Given the description of an element on the screen output the (x, y) to click on. 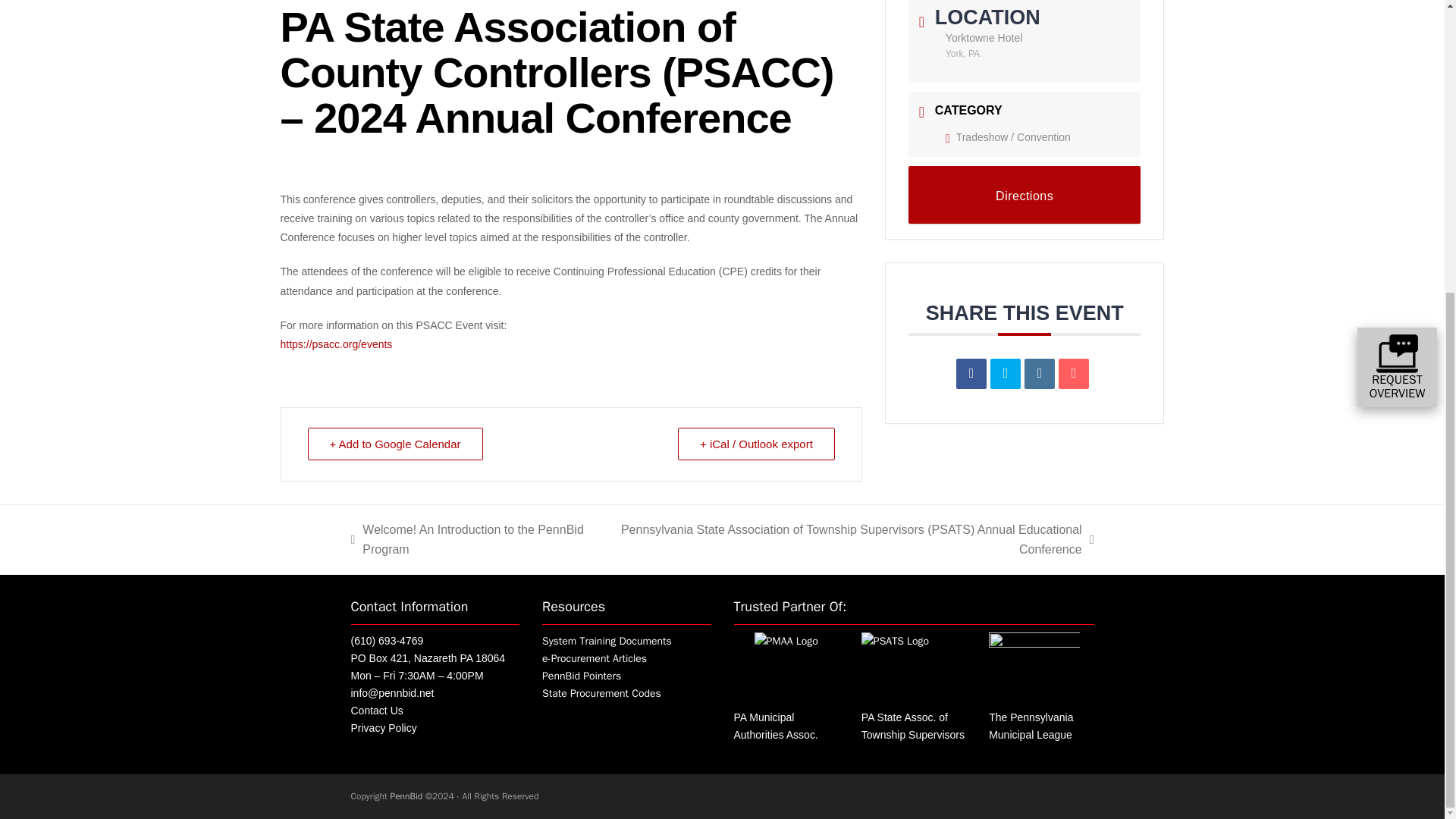
PSATS-Logo (894, 641)
PML-BLN-Logo-Footer (1034, 666)
Email (1073, 373)
Tweet (1005, 373)
Share on Facebook (971, 373)
Linkedin (1039, 373)
PMAA Logo (786, 641)
